Given the description of an element on the screen output the (x, y) to click on. 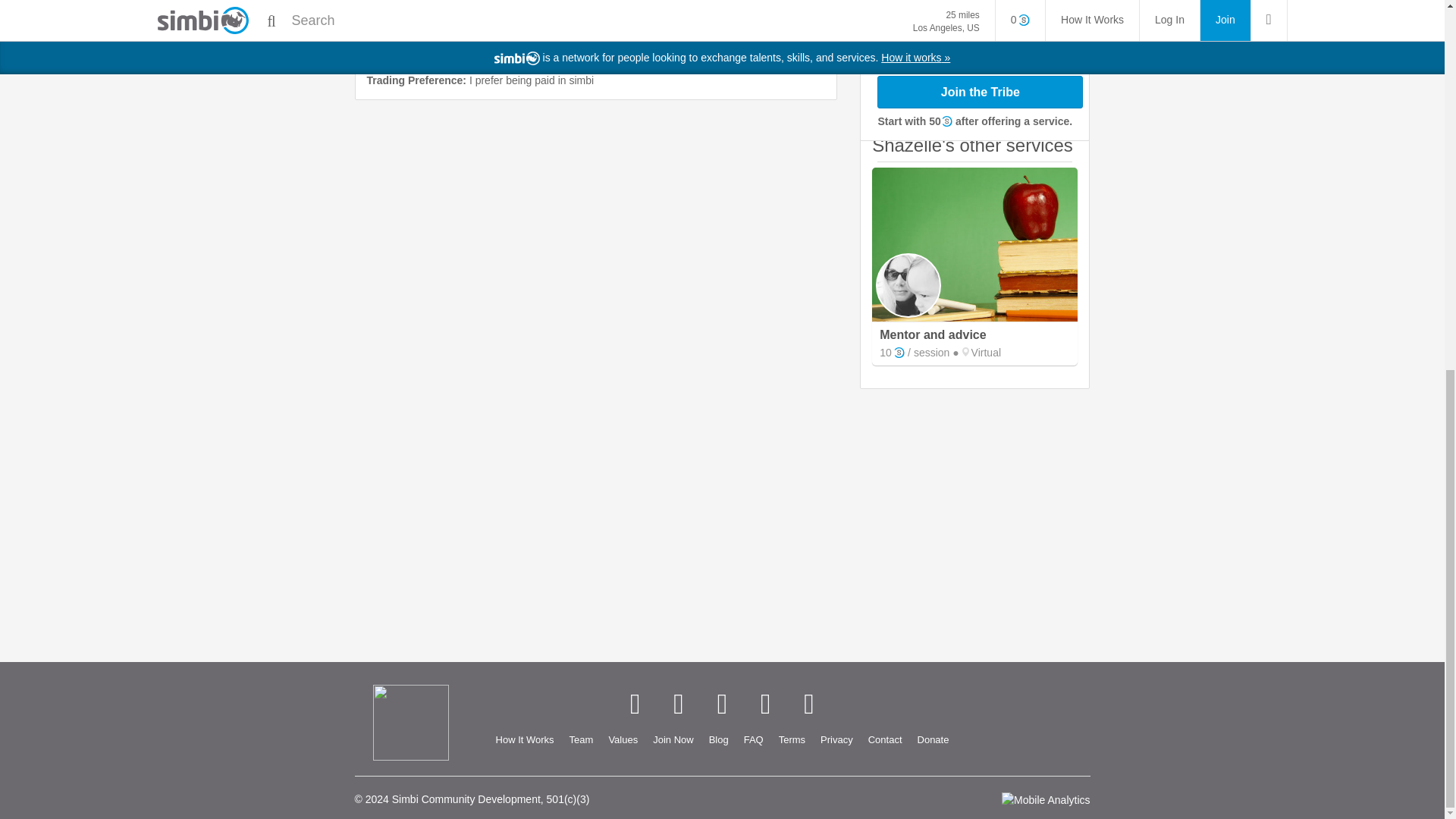
Privacy (836, 740)
Join (672, 740)
FAQ (753, 740)
Instagram (765, 704)
Facebook (634, 704)
Donate (933, 740)
How it works (524, 740)
Twitter (678, 704)
Linkedin (722, 704)
Email (808, 704)
